Given the description of an element on the screen output the (x, y) to click on. 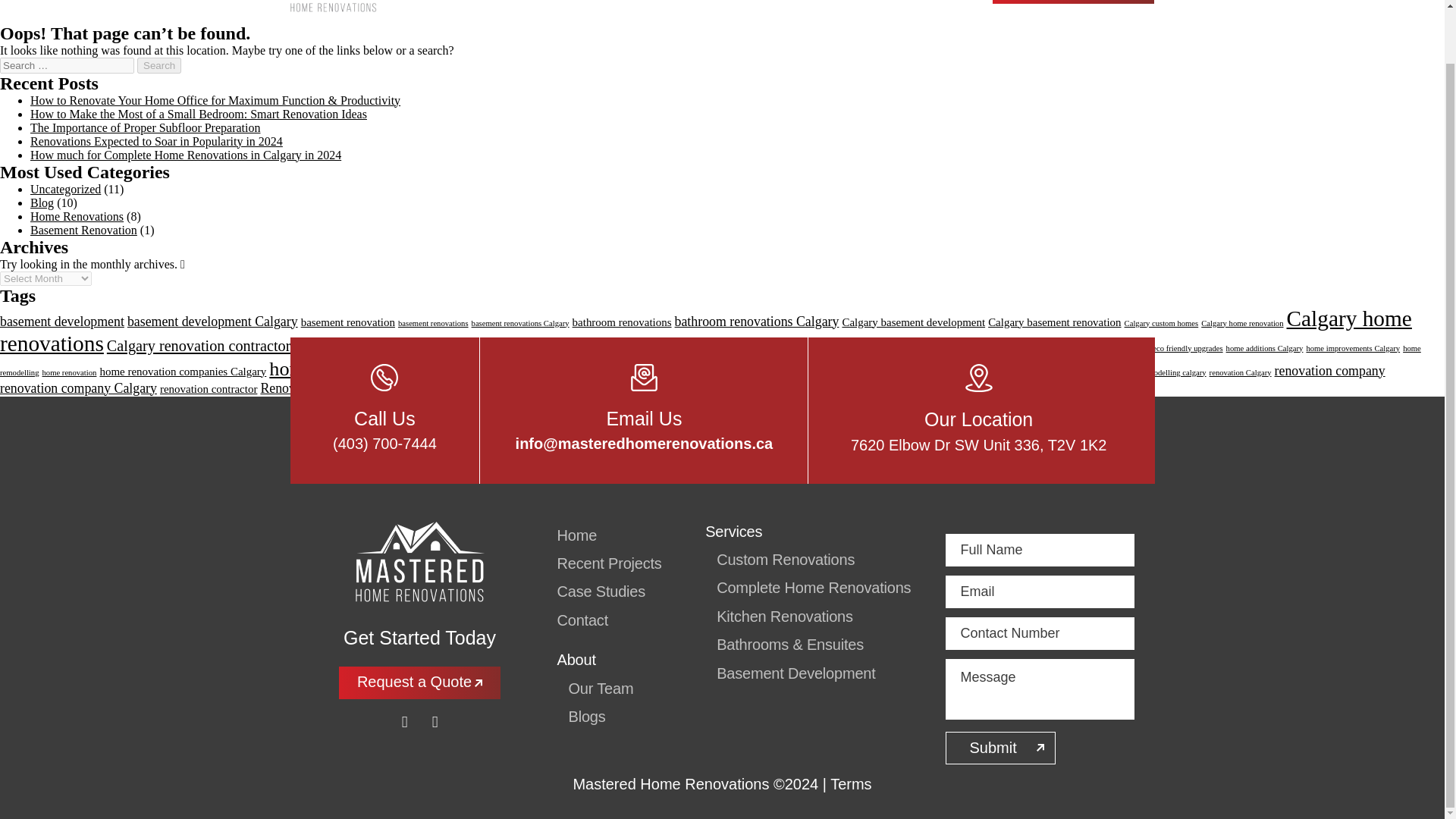
Search (158, 65)
Services (518, 0)
Submit (999, 748)
Recent Projects (621, 0)
Contact (832, 0)
Case Studies (738, 0)
About (445, 0)
Search (158, 65)
